Given the description of an element on the screen output the (x, y) to click on. 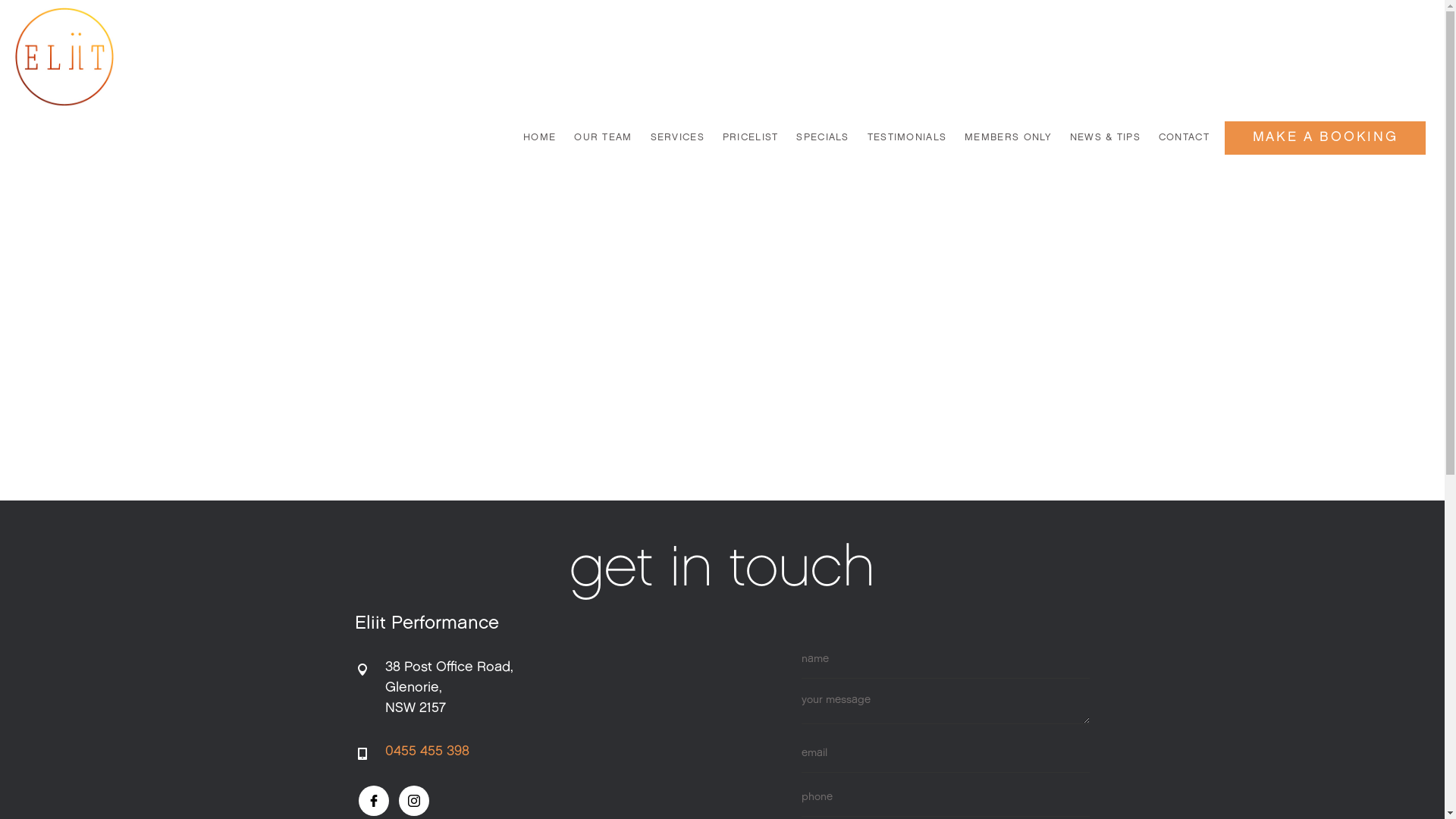
HOME Element type: text (539, 137)
SPECIALS Element type: text (822, 137)
OUR TEAM Element type: text (602, 137)
SERVICES Element type: text (677, 137)
TESTIMONIALS Element type: text (906, 137)
CONTACT Element type: text (1182, 137)
MEMBERS ONLY Element type: text (1008, 137)
PRICELIST Element type: text (750, 137)
NEWS & TIPS Element type: text (1105, 137)
MAKE A BOOKING Element type: text (1324, 137)
0455 455 398 Element type: text (427, 752)
